Given the description of an element on the screen output the (x, y) to click on. 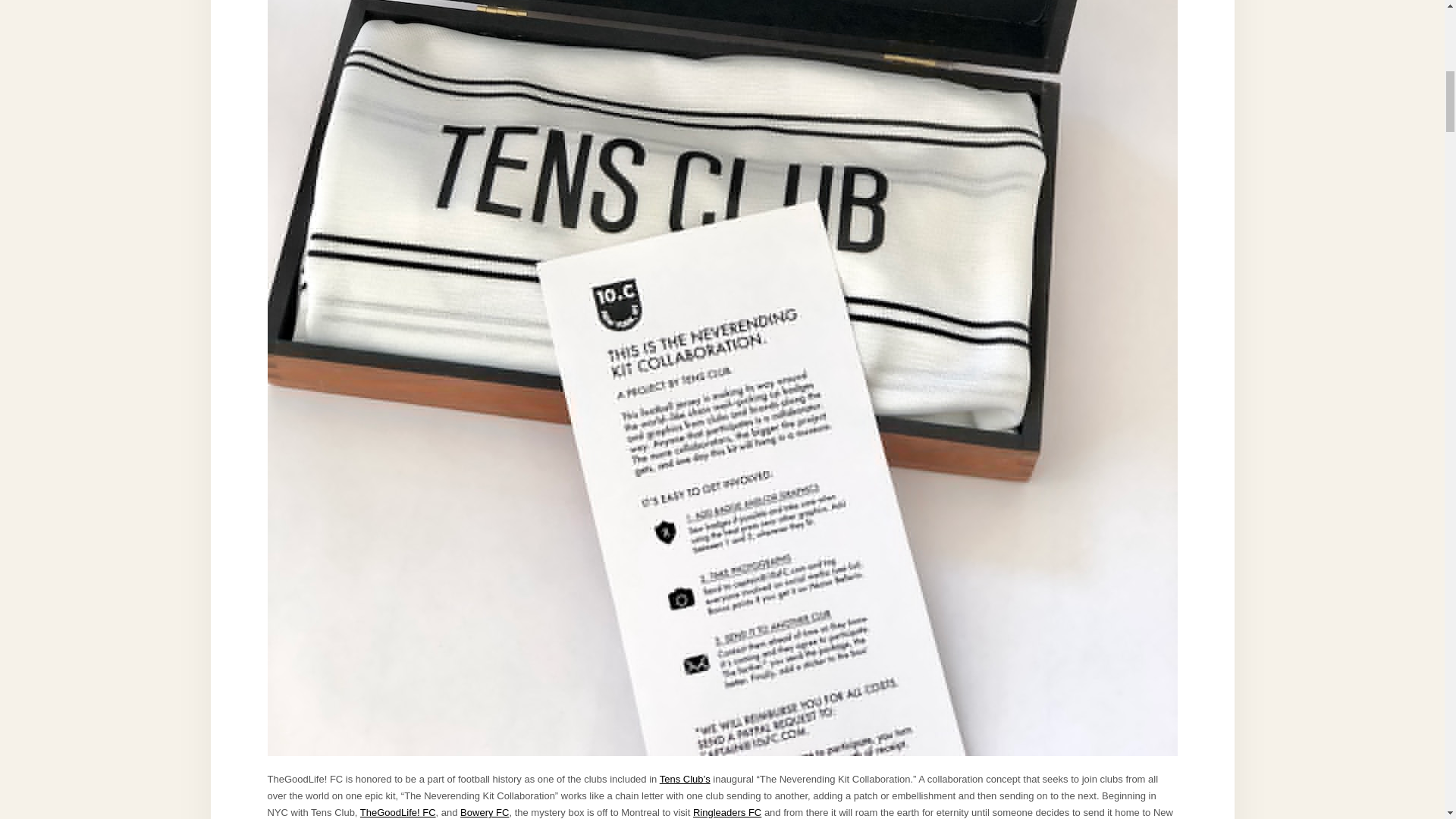
Ringleaders FC (727, 812)
TheGoodLife! FC (397, 812)
Bowery FC (484, 812)
